Given the description of an element on the screen output the (x, y) to click on. 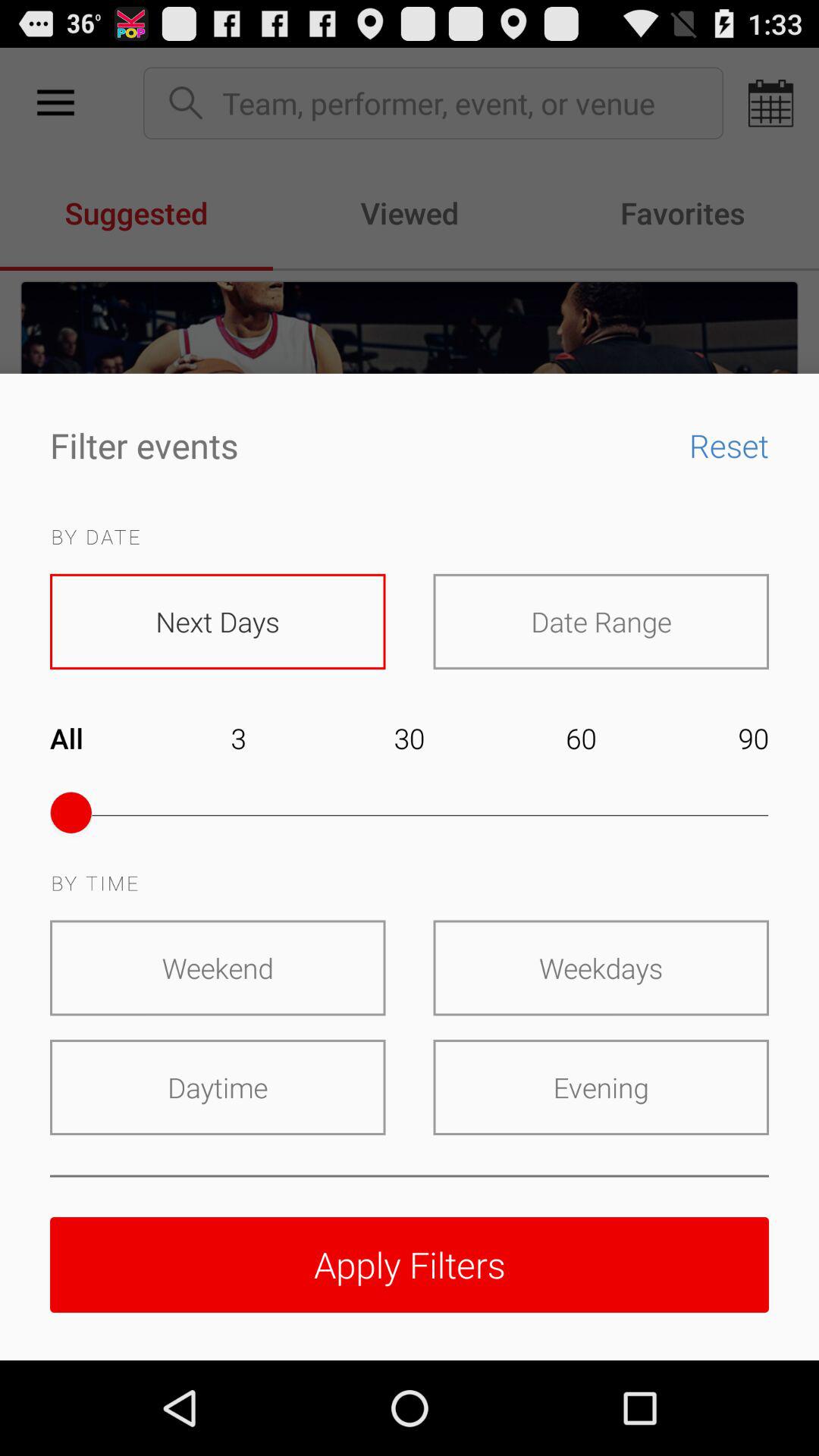
launch item next to weekdays icon (217, 967)
